Given the description of an element on the screen output the (x, y) to click on. 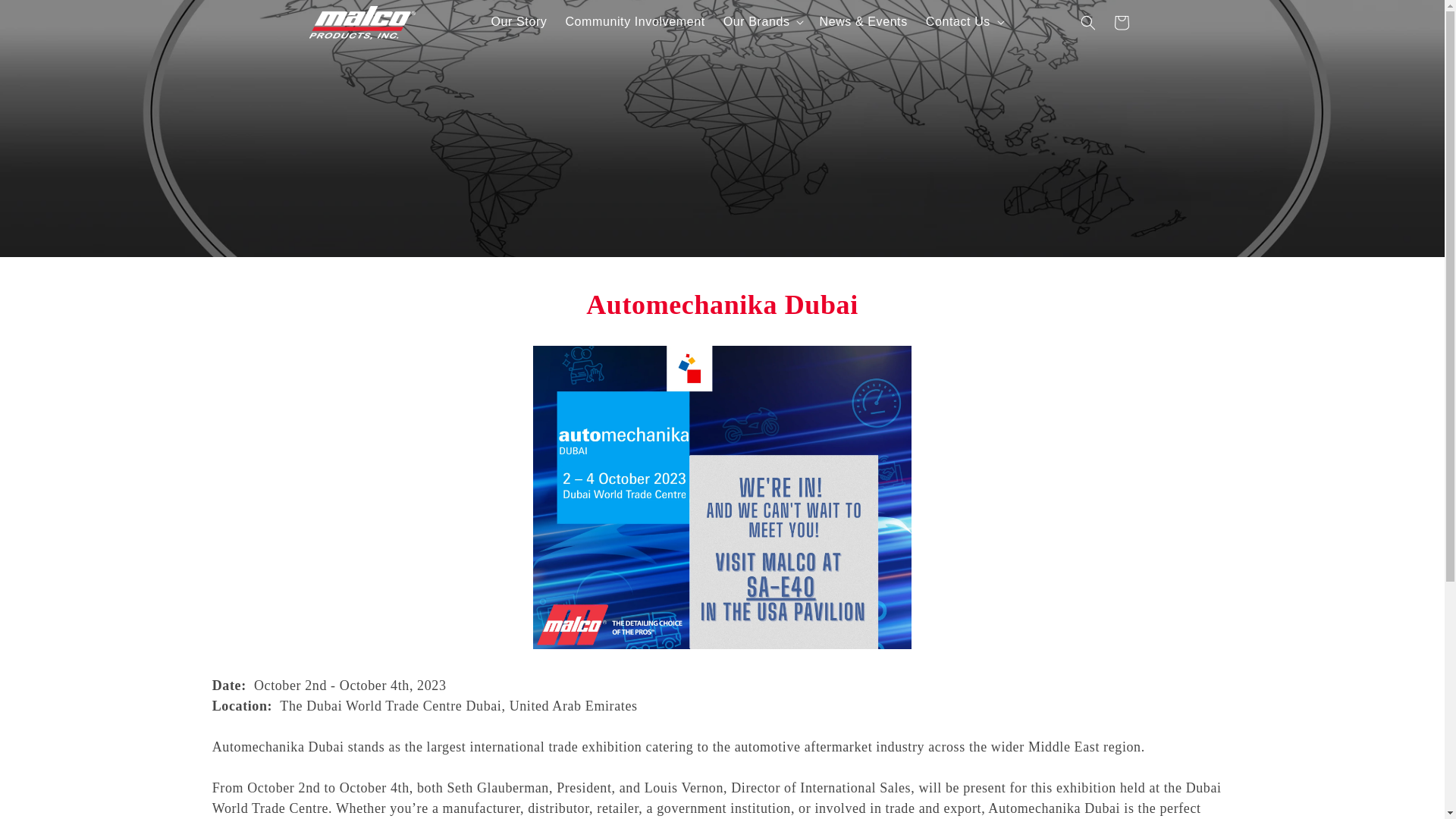
Our Brands (756, 21)
Community Involvement (634, 21)
Contact Us (958, 21)
Cart (1121, 22)
Our Story (518, 21)
